Given the description of an element on the screen output the (x, y) to click on. 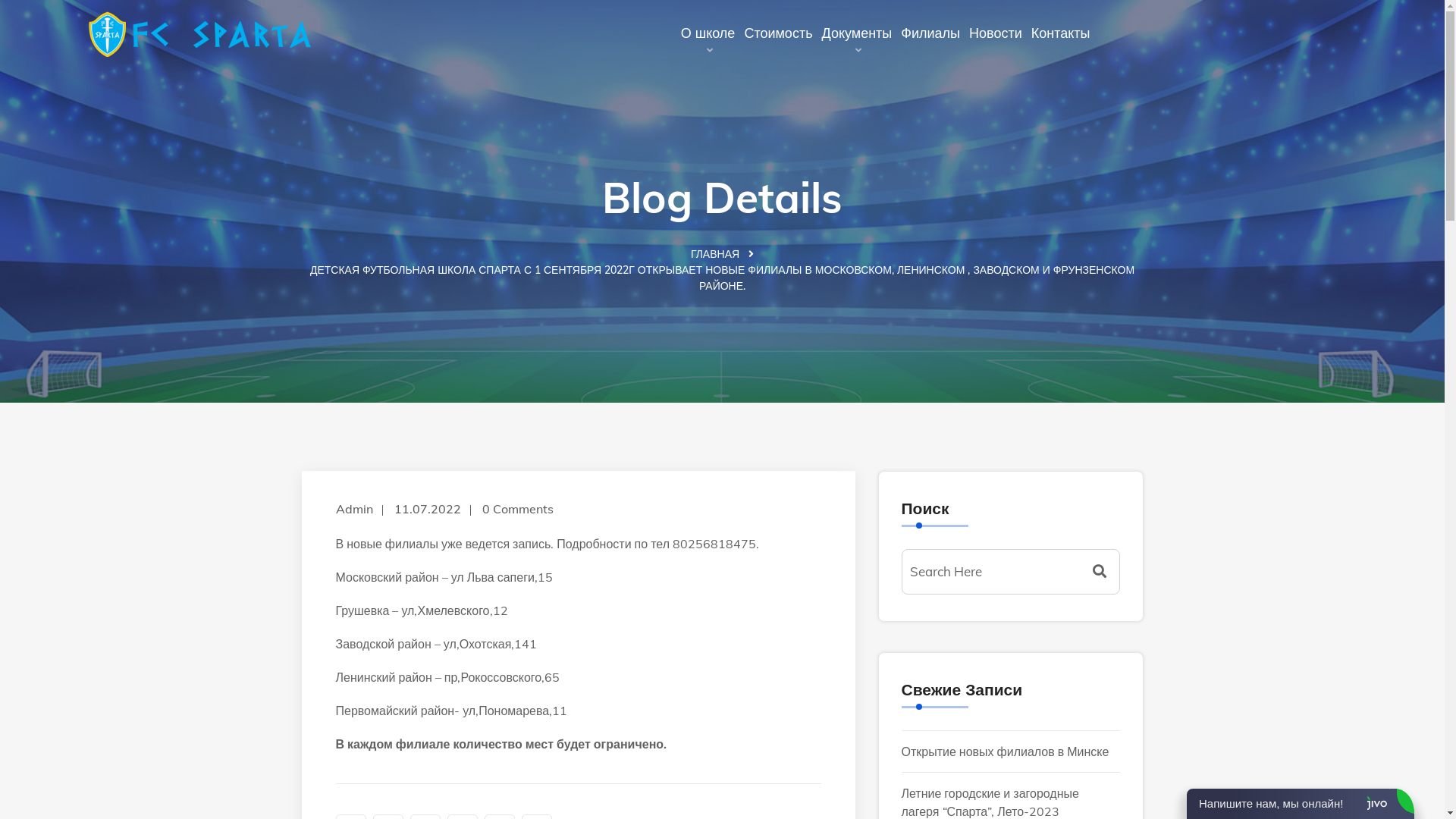
Search for: Element type: hover (1009, 571)
Admin Element type: text (353, 507)
0 Comments Element type: text (517, 507)
fcsparta Element type: hover (200, 33)
